Given the description of an element on the screen output the (x, y) to click on. 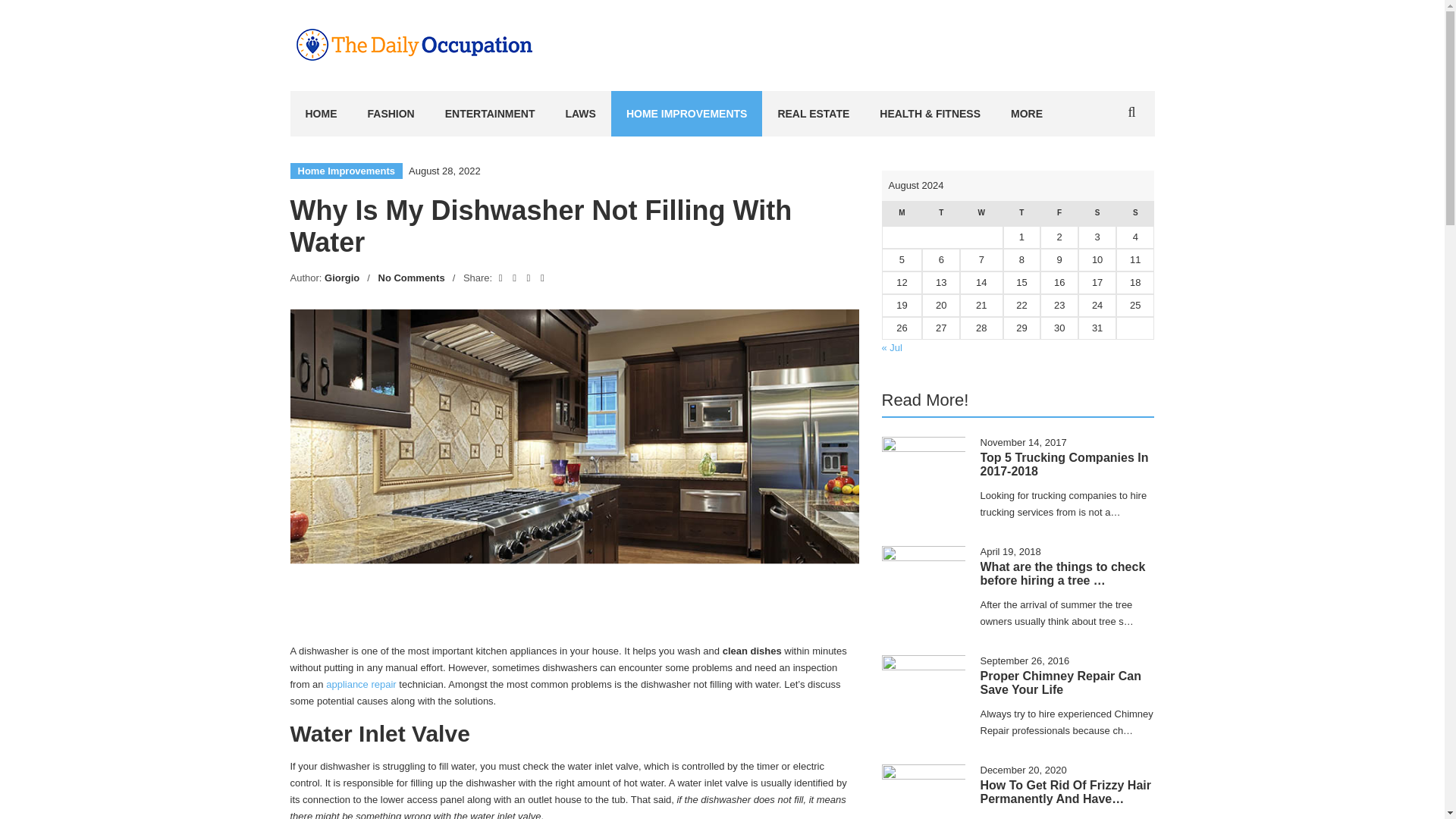
MORE (1026, 113)
FASHION (390, 113)
HOME IMPROVEMENTS (686, 113)
Sunday (1135, 213)
Monday (900, 213)
Giorgio (341, 277)
REAL ESTATE (812, 113)
Posts by Giorgio (341, 277)
Friday (1059, 213)
Home Improvements (346, 170)
Thursday (1022, 213)
appliance repair (361, 684)
Wednesday (981, 213)
ENTERTAINMENT (489, 113)
HOME (320, 113)
